Given the description of an element on the screen output the (x, y) to click on. 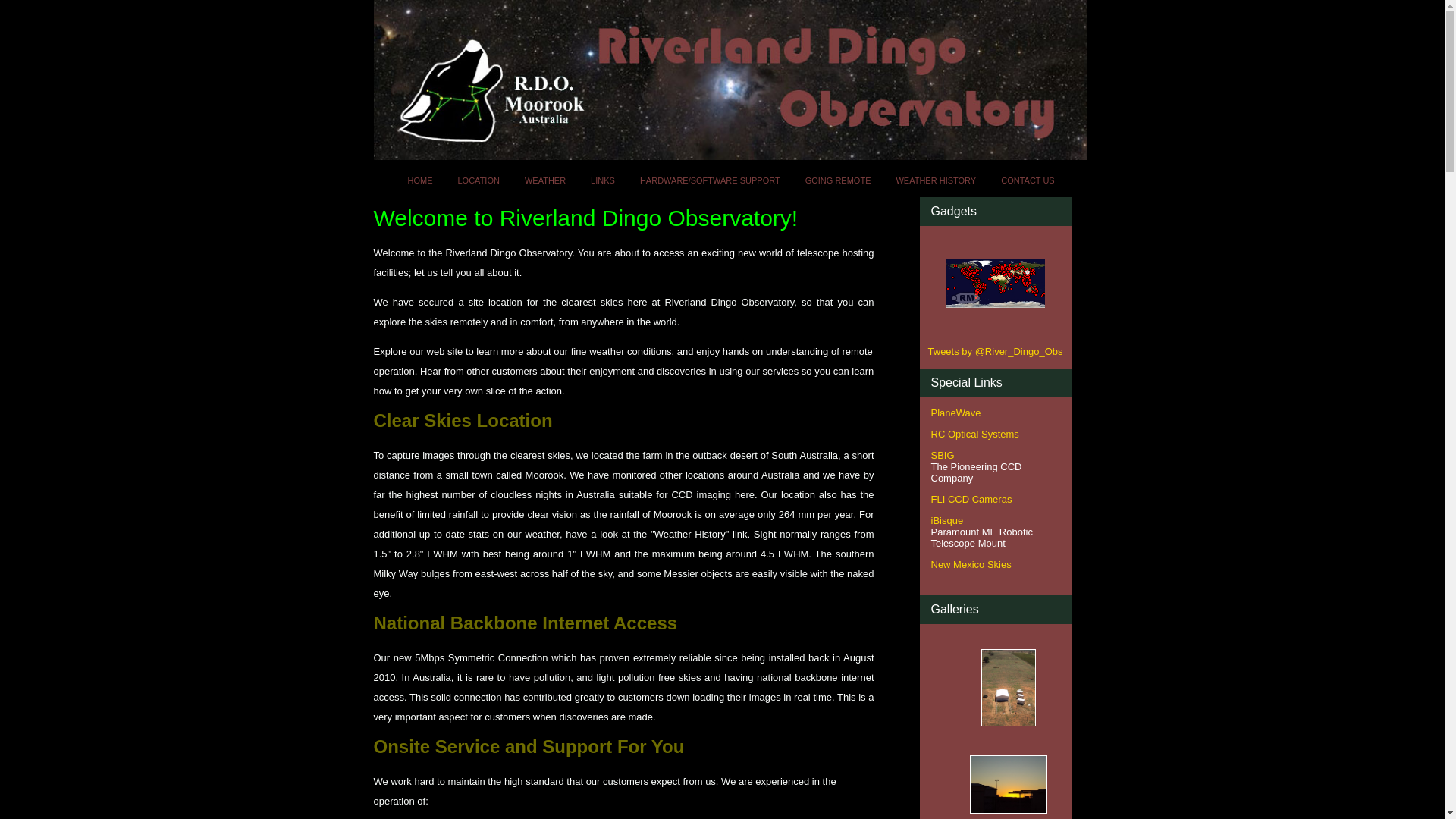
Tweets by @River_Dingo_Obs Element type: text (995, 351)
LOCATION Element type: text (477, 179)
HARDWARE/SOFTWARE SUPPORT Element type: text (709, 179)
SBIG Element type: text (942, 455)
WEATHER HISTORY Element type: text (935, 179)
RC Optical Systems Element type: text (975, 433)
WEATHER Element type: text (545, 179)
HOME Element type: text (419, 179)
GOING REMOTE Element type: text (837, 179)
PlaneWave Element type: text (956, 412)
LINKS Element type: text (602, 179)
iBisque Element type: text (947, 520)
CONTACT US Element type: text (1027, 179)
FLI CCD Cameras Element type: text (971, 499)
New Mexico Skies Element type: text (971, 564)
